Given the description of an element on the screen output the (x, y) to click on. 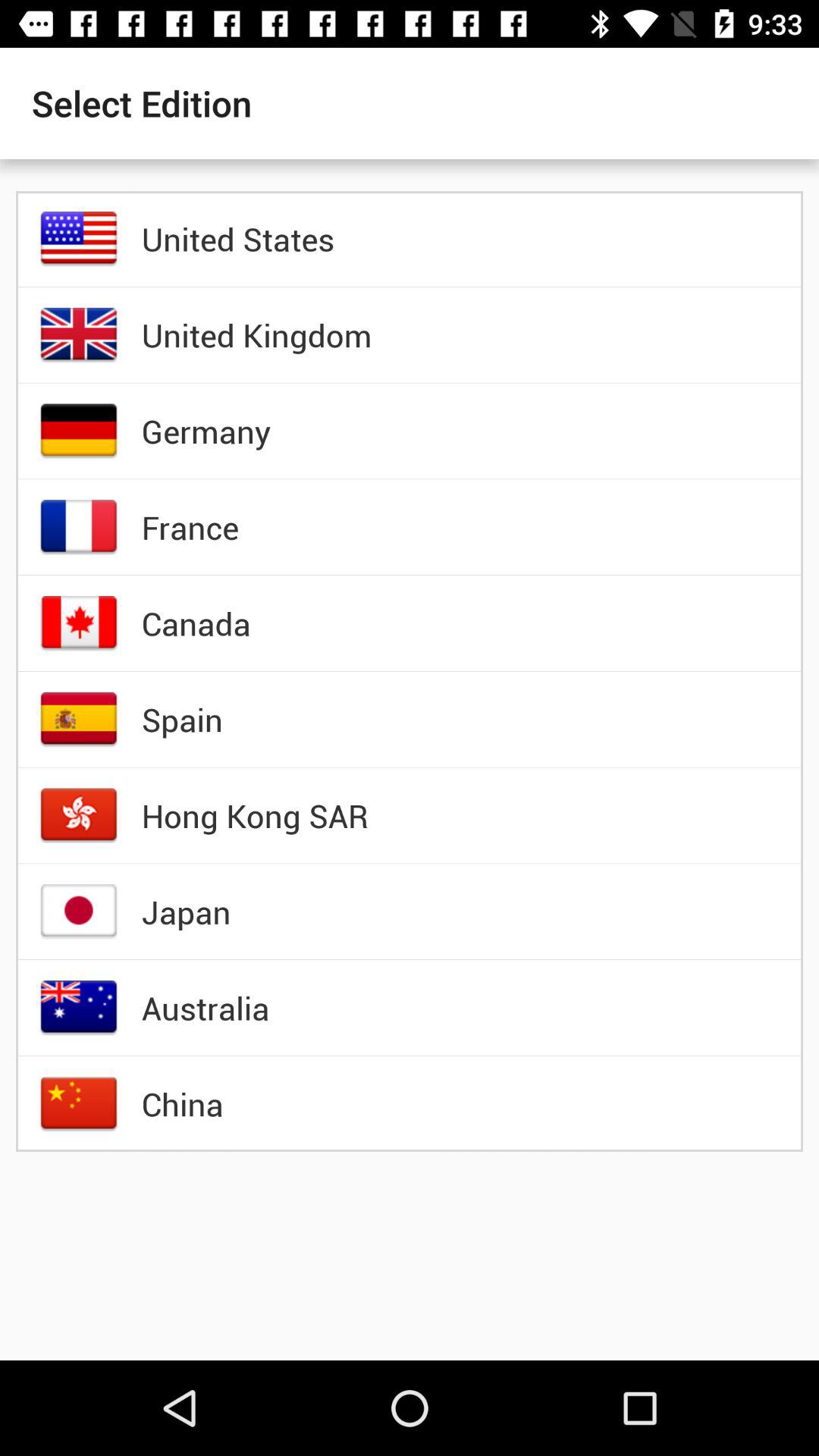
turn on united states item (237, 238)
